Given the description of an element on the screen output the (x, y) to click on. 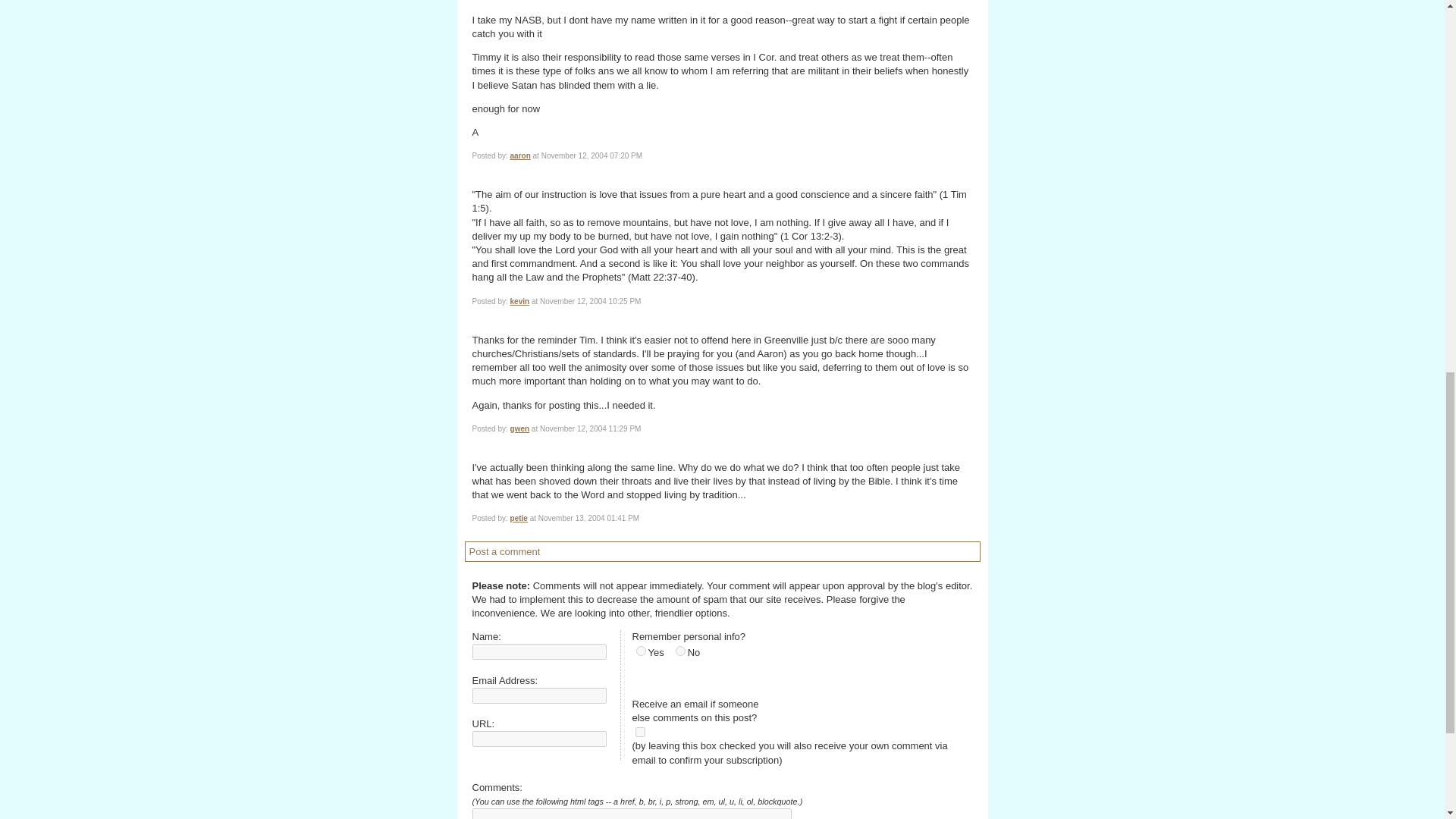
kevin (520, 301)
gwen (520, 429)
petie (519, 518)
aaron (521, 155)
